Given the description of an element on the screen output the (x, y) to click on. 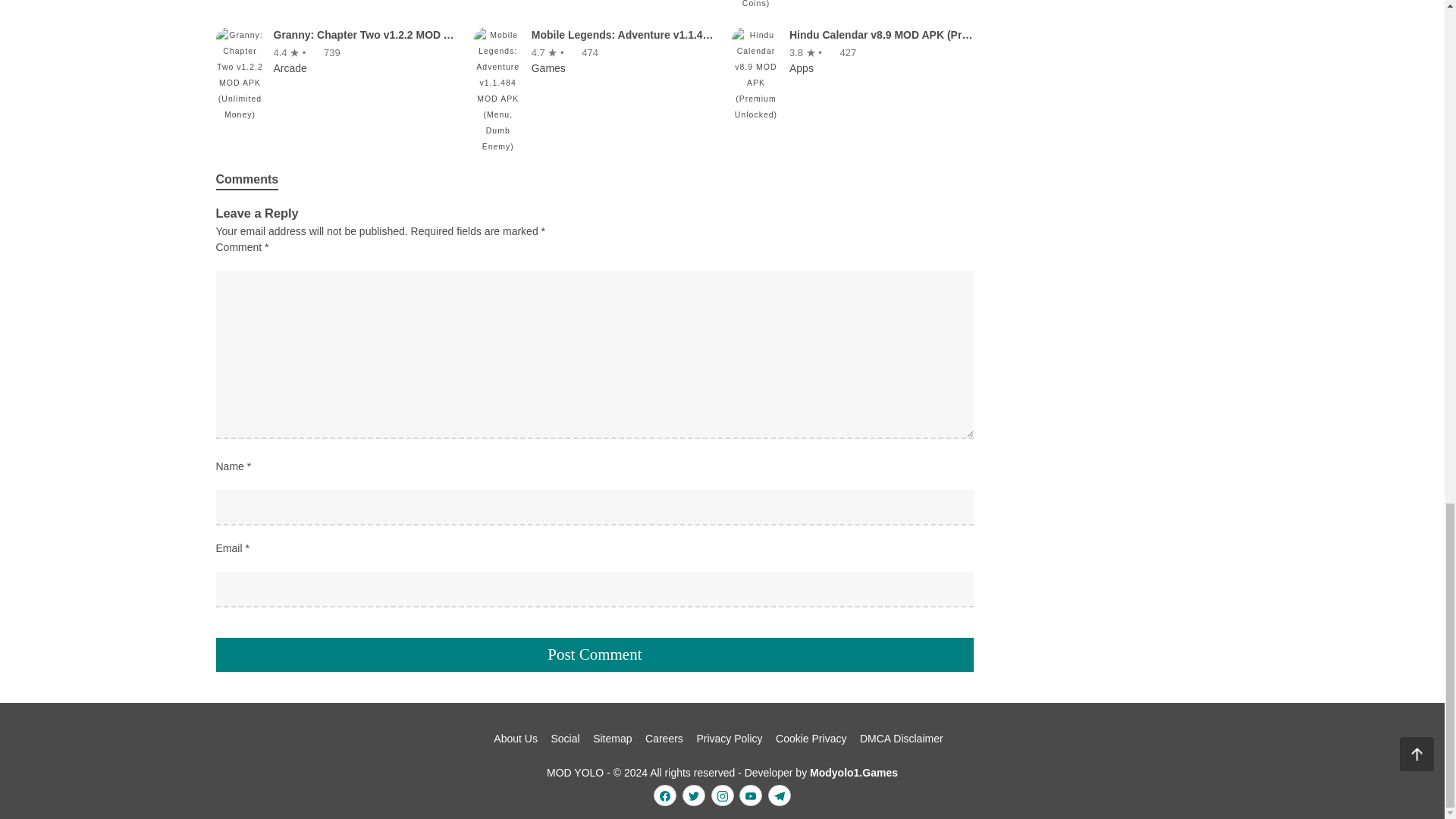
Follow MOD YOLO on Facebook (665, 794)
Post Comment (594, 654)
MOD YOLO (853, 772)
Follow MOD YOLO on Twitter (693, 794)
Post Comment (594, 654)
